Given the description of an element on the screen output the (x, y) to click on. 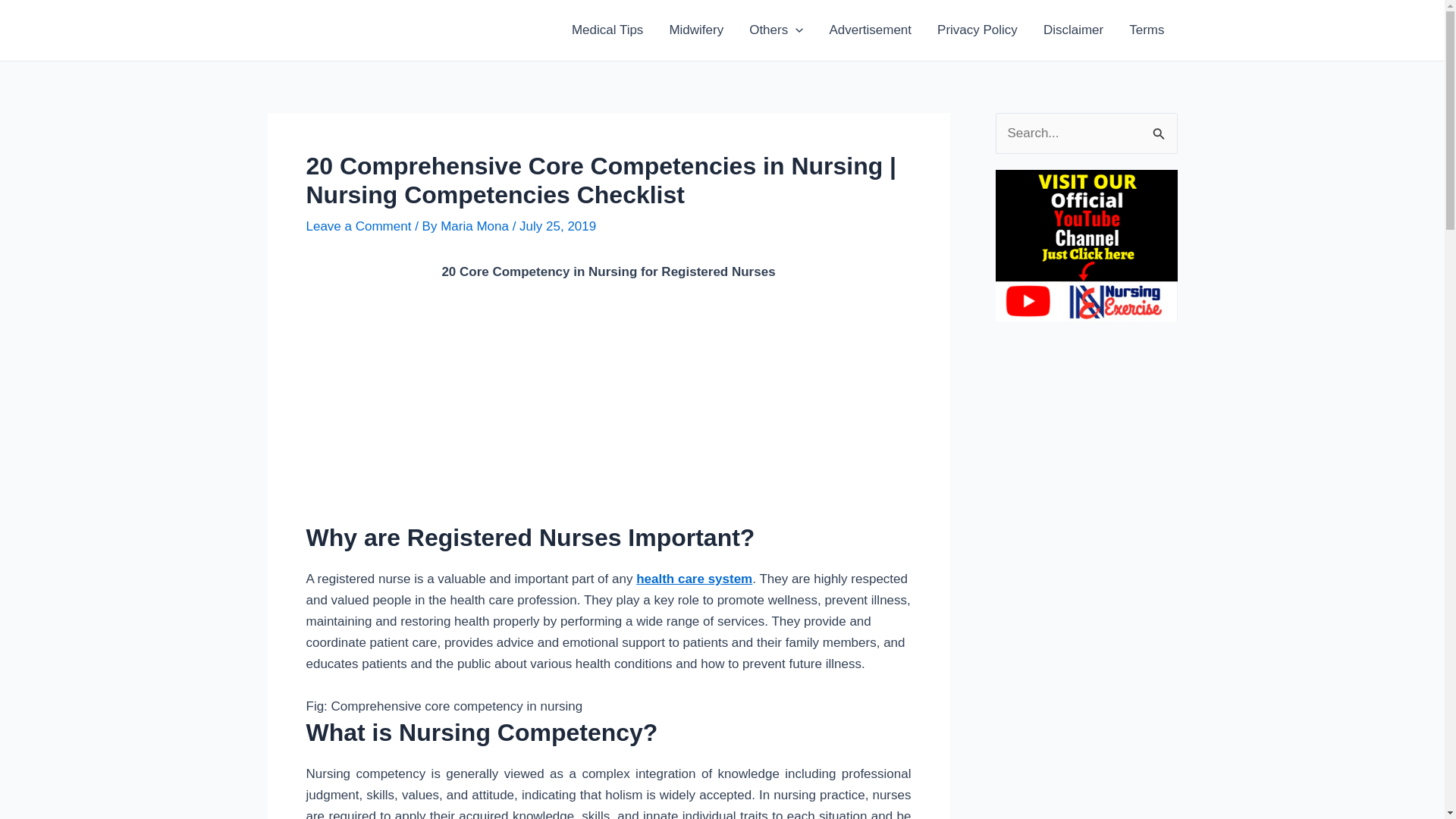
Medical Tips (607, 30)
health care system (694, 578)
Search (1159, 129)
Midwifery (696, 30)
View all posts by Maria Mona (476, 226)
Others (775, 30)
Disclaimer (1073, 30)
Privacy Policy (977, 30)
Terms (1146, 30)
Search (1159, 129)
